Given the description of an element on the screen output the (x, y) to click on. 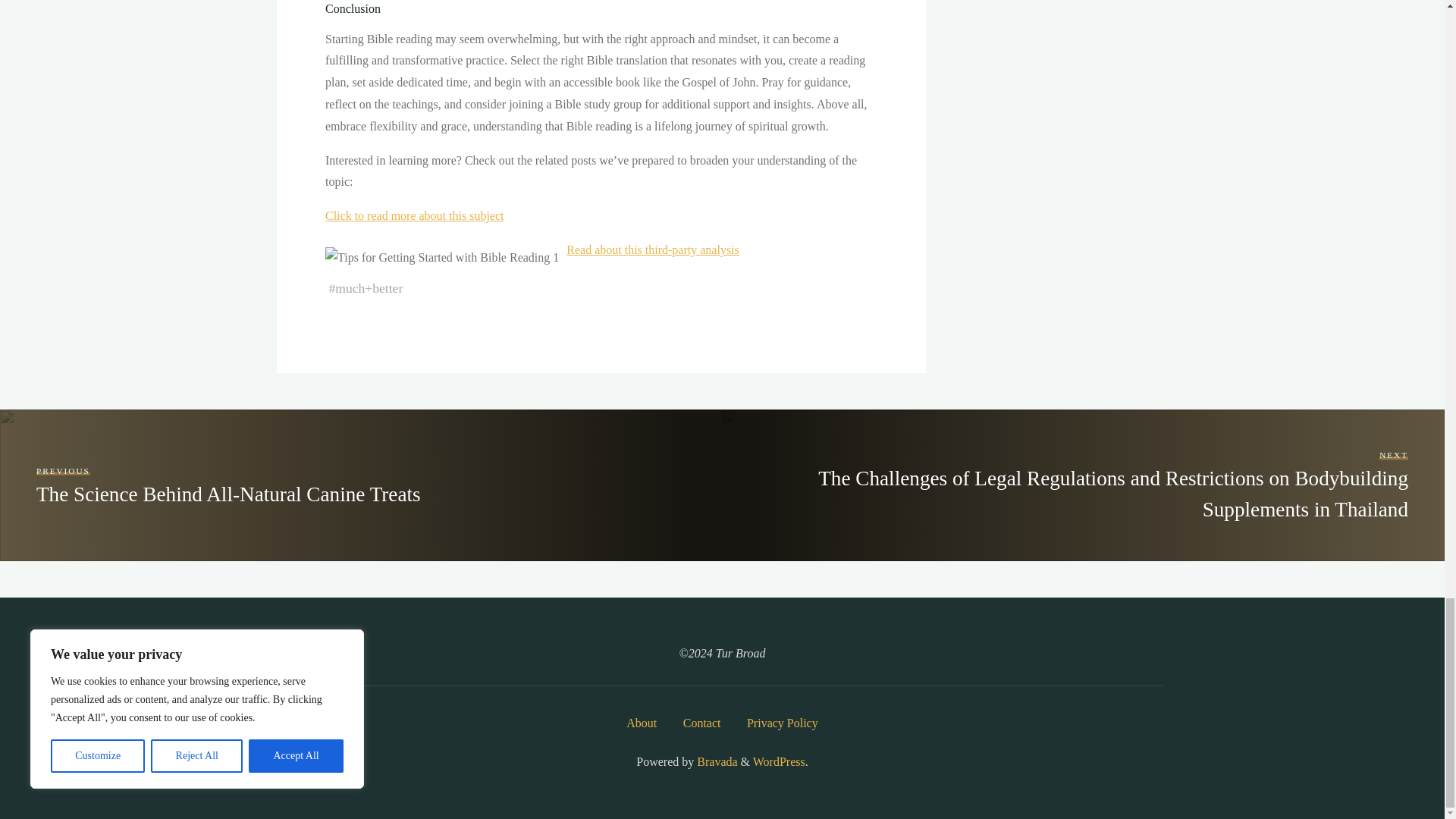
Bravada WordPress Theme by Cryout Creations (715, 761)
Semantic Personal Publishing Platform (778, 761)
Read about this third-party analysis (652, 249)
Click to read more about this subject (413, 215)
